Given the description of an element on the screen output the (x, y) to click on. 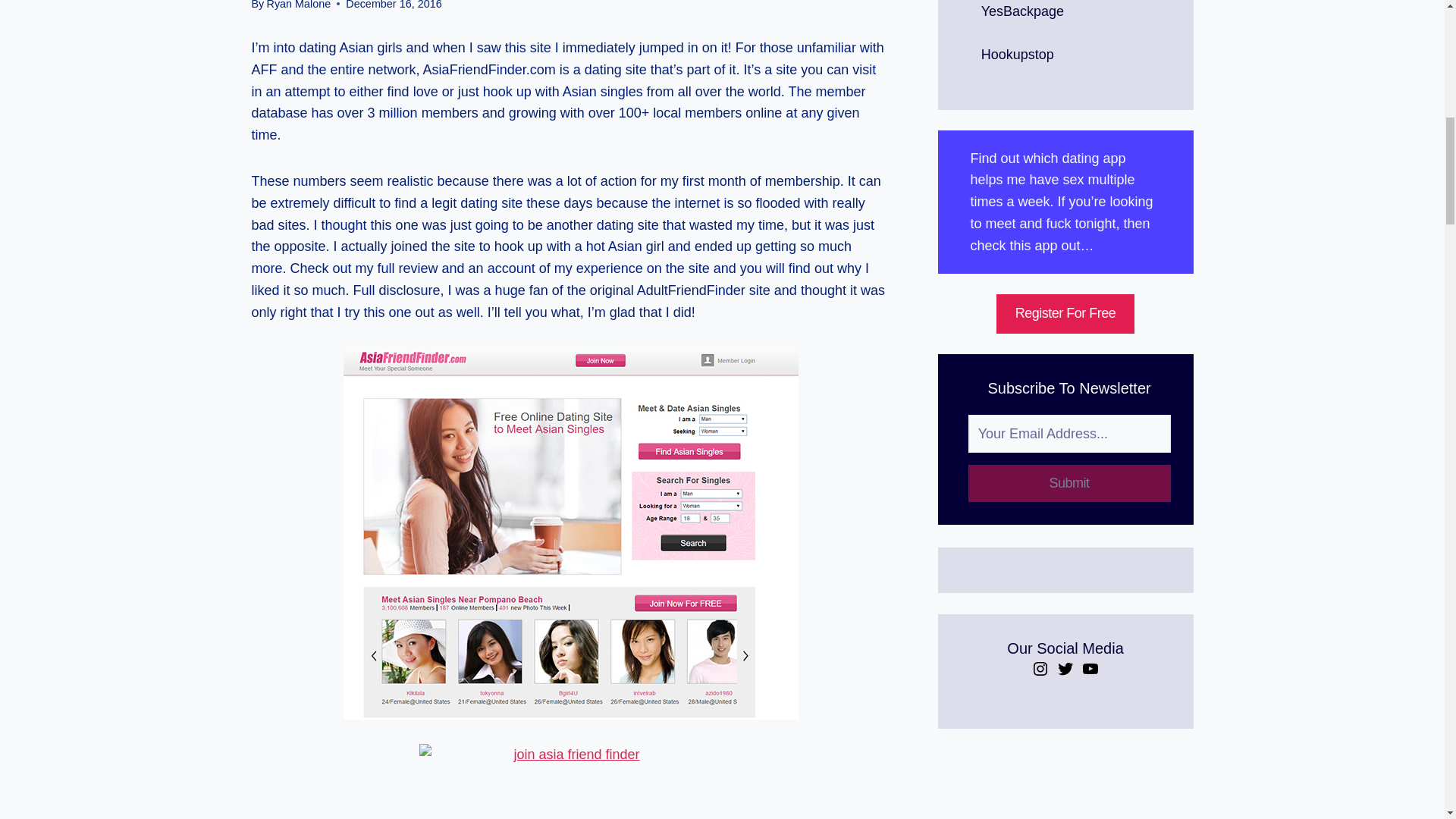
Ryan Malone (298, 4)
